Given the description of an element on the screen output the (x, y) to click on. 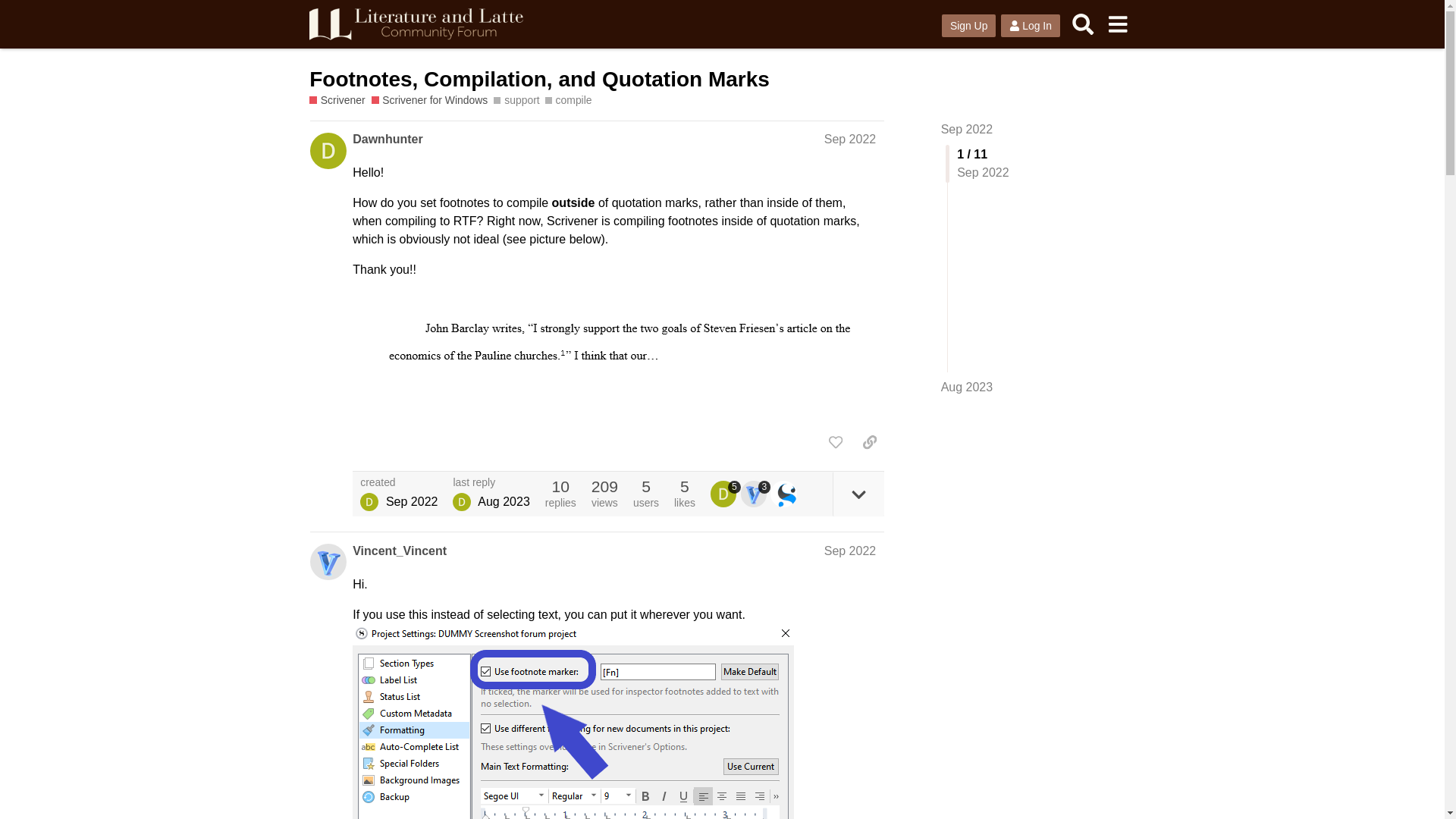
Sign Up (968, 25)
expand topic details (857, 493)
menu (1117, 23)
Joshua Harper (461, 502)
Ask for help, report bugs, or give feedback for Scrivener. (336, 100)
Dawnhunter (387, 139)
Jump to the last post (966, 386)
Sep 2022 (966, 128)
Sep 7, 2022 8:15 am (411, 501)
Log In (1030, 25)
Sep 2022 (850, 550)
Post date (850, 138)
Scrivener (336, 100)
last reply (490, 482)
Aug 2023 (966, 387)
